Given the description of an element on the screen output the (x, y) to click on. 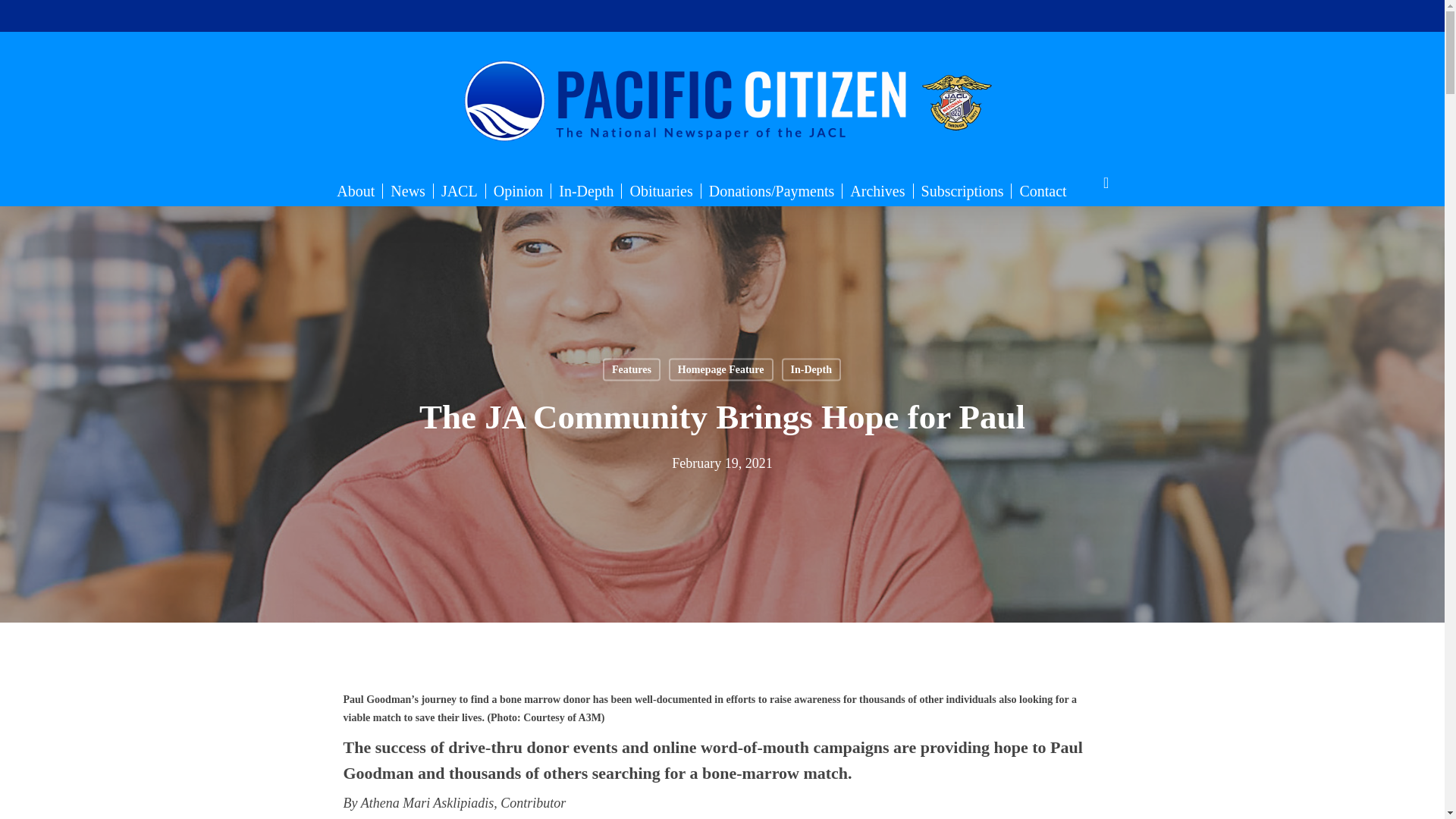
Subscriptions (962, 191)
Archives (877, 191)
JACL (459, 191)
In-Depth (586, 191)
Contact (1042, 191)
search (1106, 182)
Opinion (518, 191)
Obituaries (660, 191)
About (355, 191)
News (407, 191)
